Given the description of an element on the screen output the (x, y) to click on. 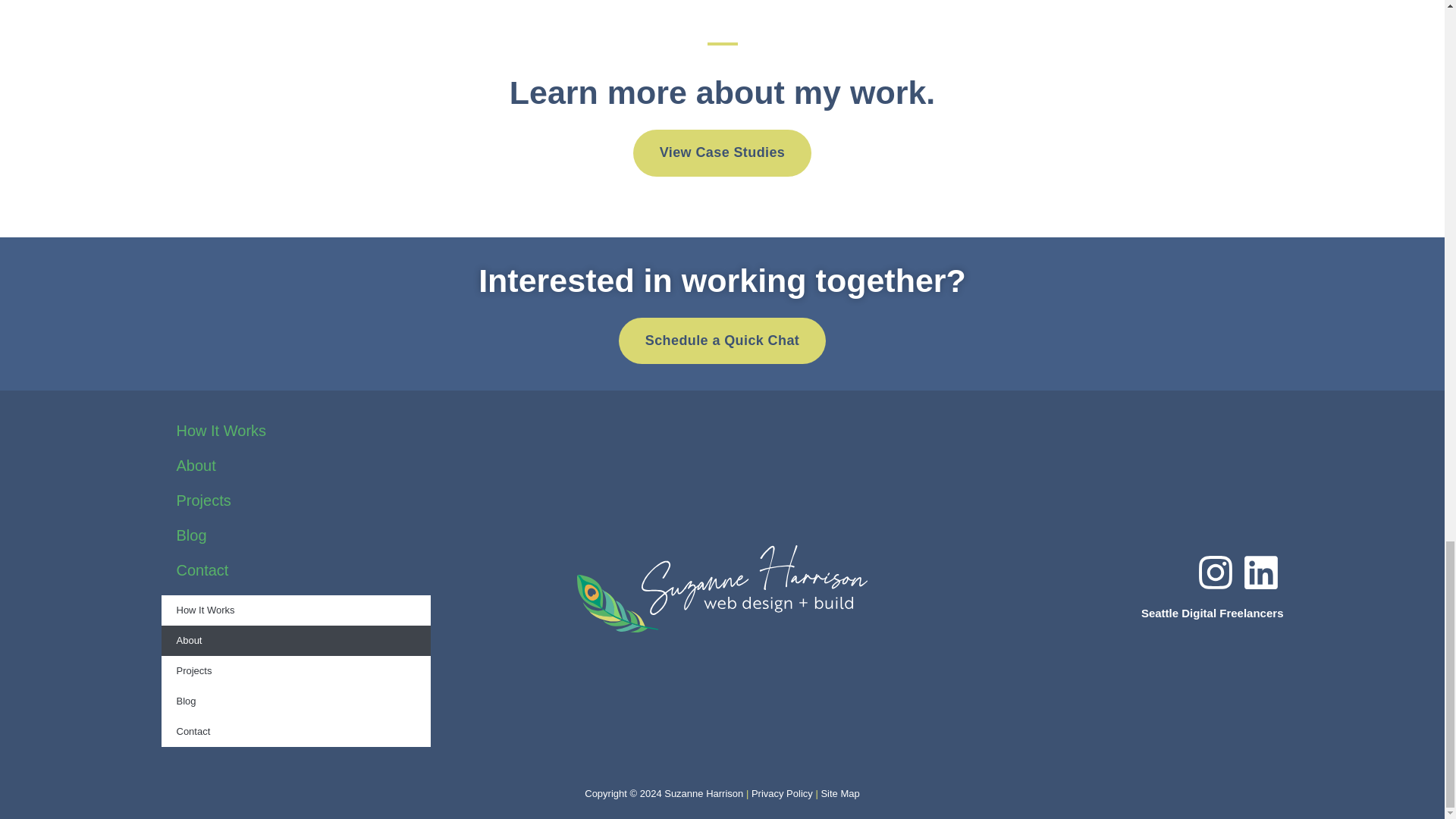
How It Works (294, 430)
Seattle Digital Freelancers (1212, 612)
Instagram (1214, 572)
View Case Studies (722, 152)
Blog (294, 534)
Projects (294, 671)
Site Map (840, 793)
Contact (294, 731)
Linkedin (1259, 572)
Contact (294, 570)
